Given the description of an element on the screen output the (x, y) to click on. 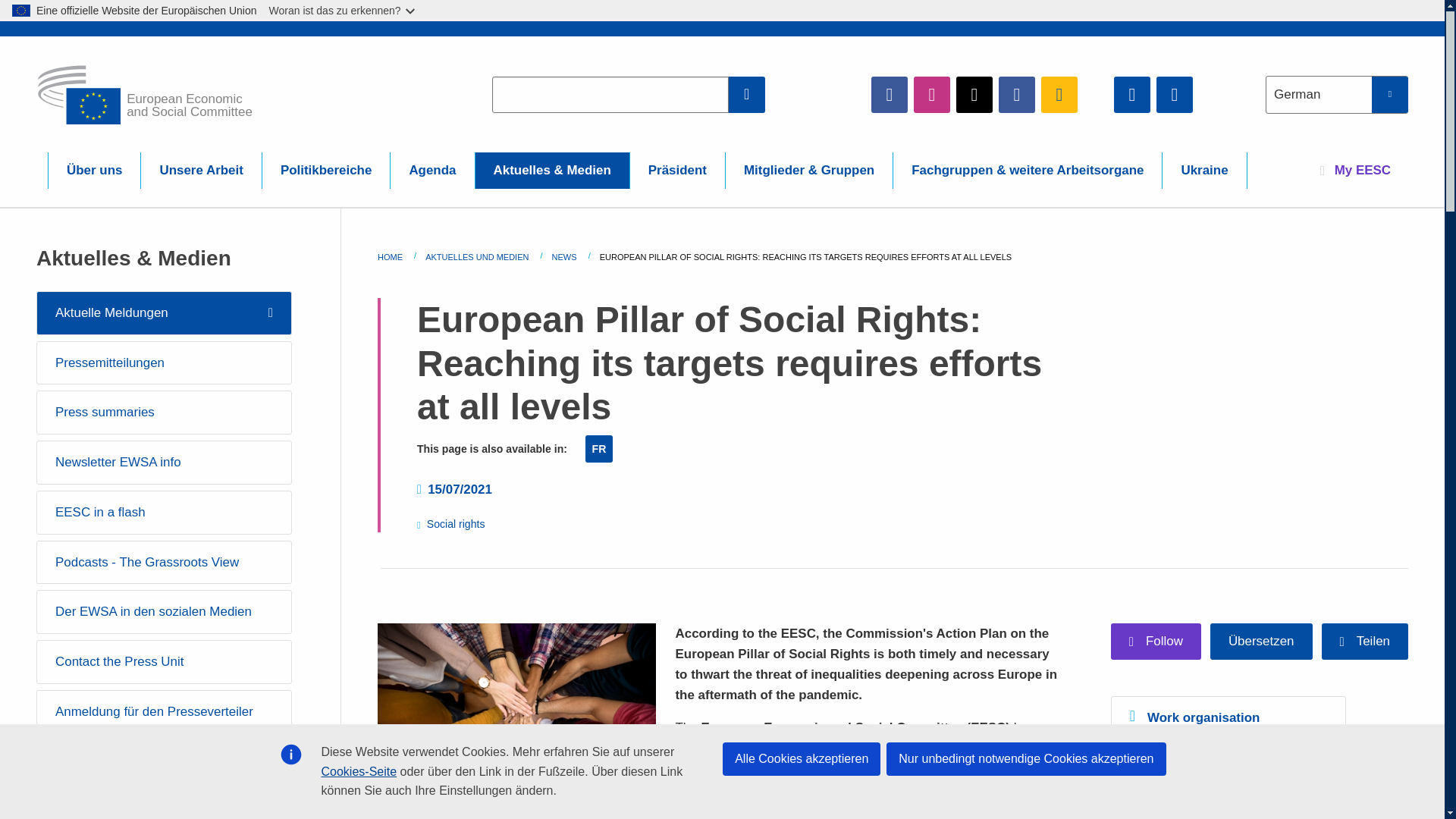
Woran ist das zu erkennen? (343, 10)
Nur unbedingt notwendige Cookies akzeptieren (1026, 758)
Cookies-Seite (359, 771)
Alle Cookies akzeptieren (801, 758)
My EESC (1355, 170)
Search EESC Website (747, 94)
